Given the description of an element on the screen output the (x, y) to click on. 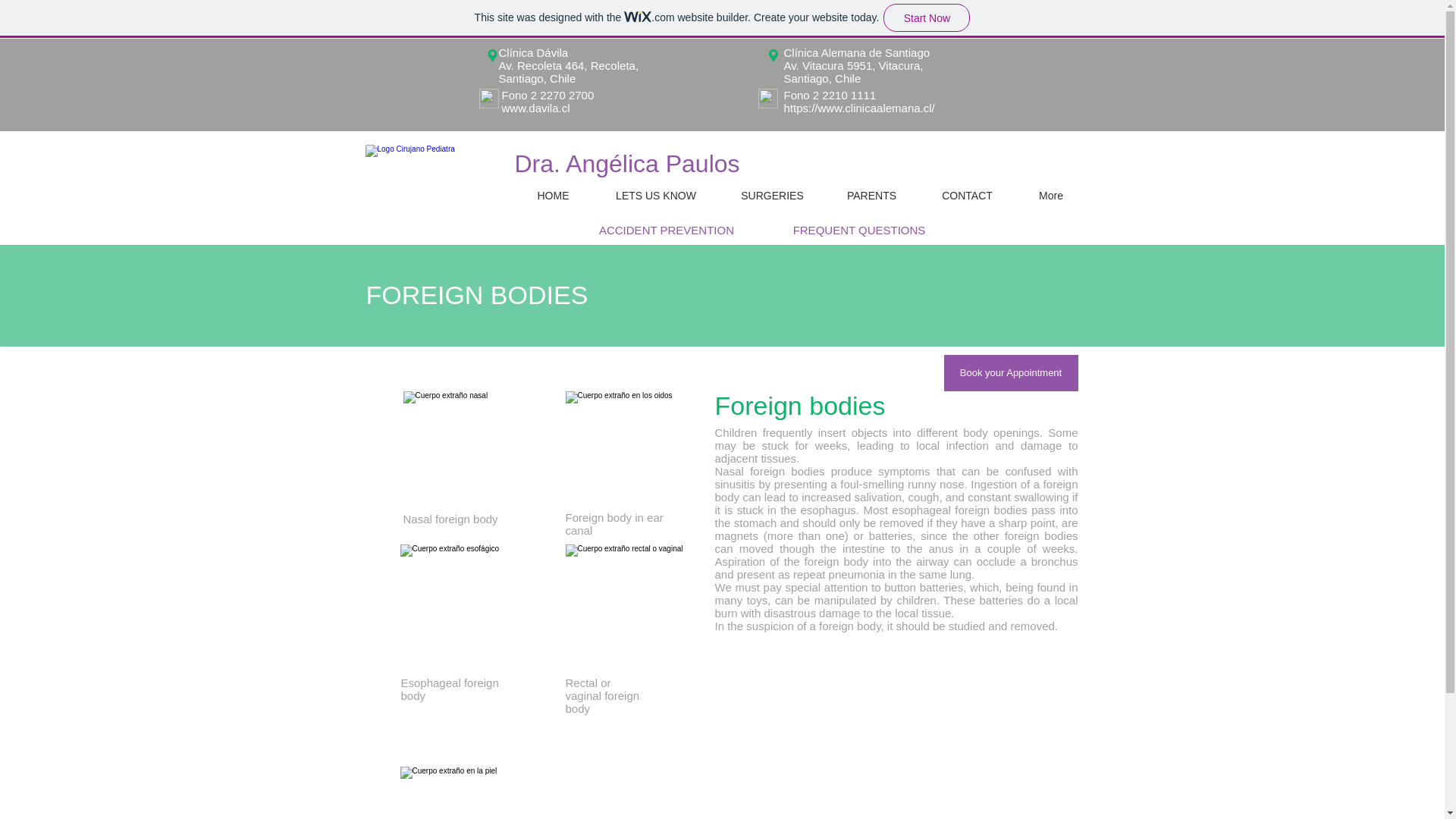
FREQUENT QUESTIONS (859, 229)
CONTACT (967, 195)
PARENTS (871, 195)
www.davila.cl (536, 107)
Book your Appointment (1010, 372)
LETS US KNOW (655, 195)
HOME (552, 195)
SURGERIES (772, 195)
ACCIDENT PREVENTION (665, 229)
